Given the description of an element on the screen output the (x, y) to click on. 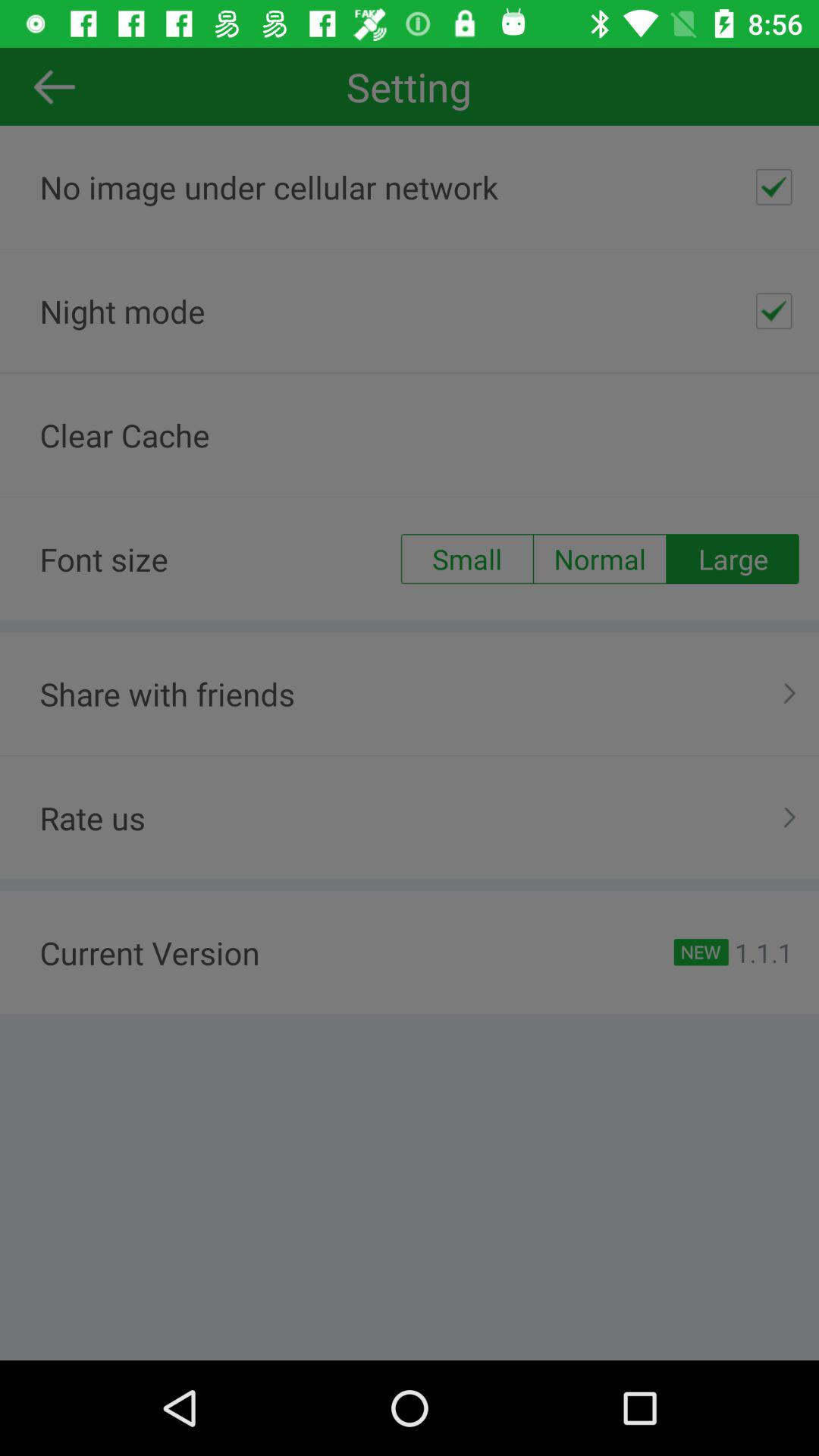
tap the app below the clear cache item (466, 559)
